Given the description of an element on the screen output the (x, y) to click on. 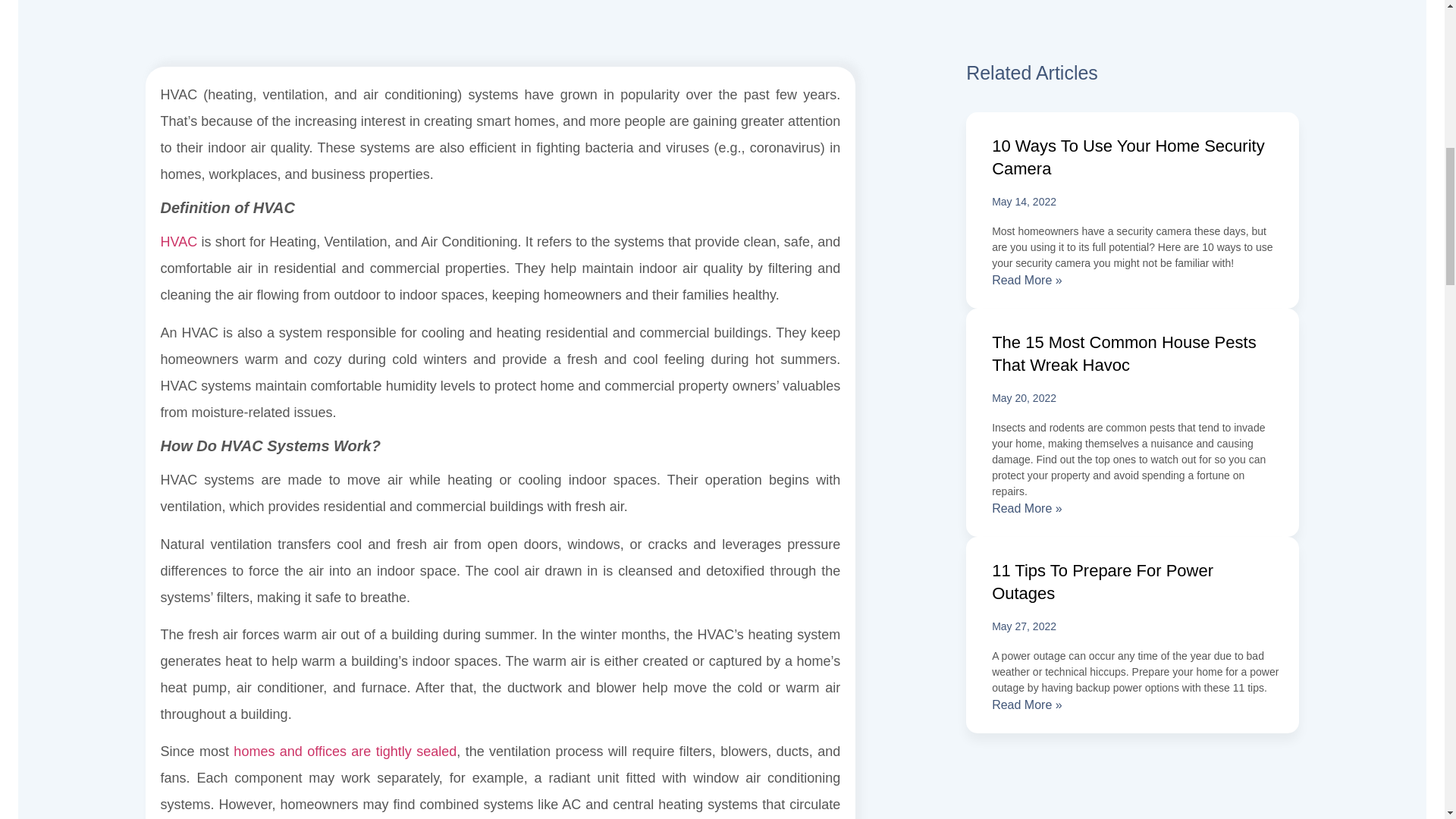
10 Ways To Use Your Home Security Camera (1128, 157)
homes and offices are tightly sealed (342, 751)
The 15 Most Common House Pests That Wreak Havoc (1123, 353)
11 Tips To Prepare For Power Outages (1101, 581)
HVAC (179, 241)
